Given the description of an element on the screen output the (x, y) to click on. 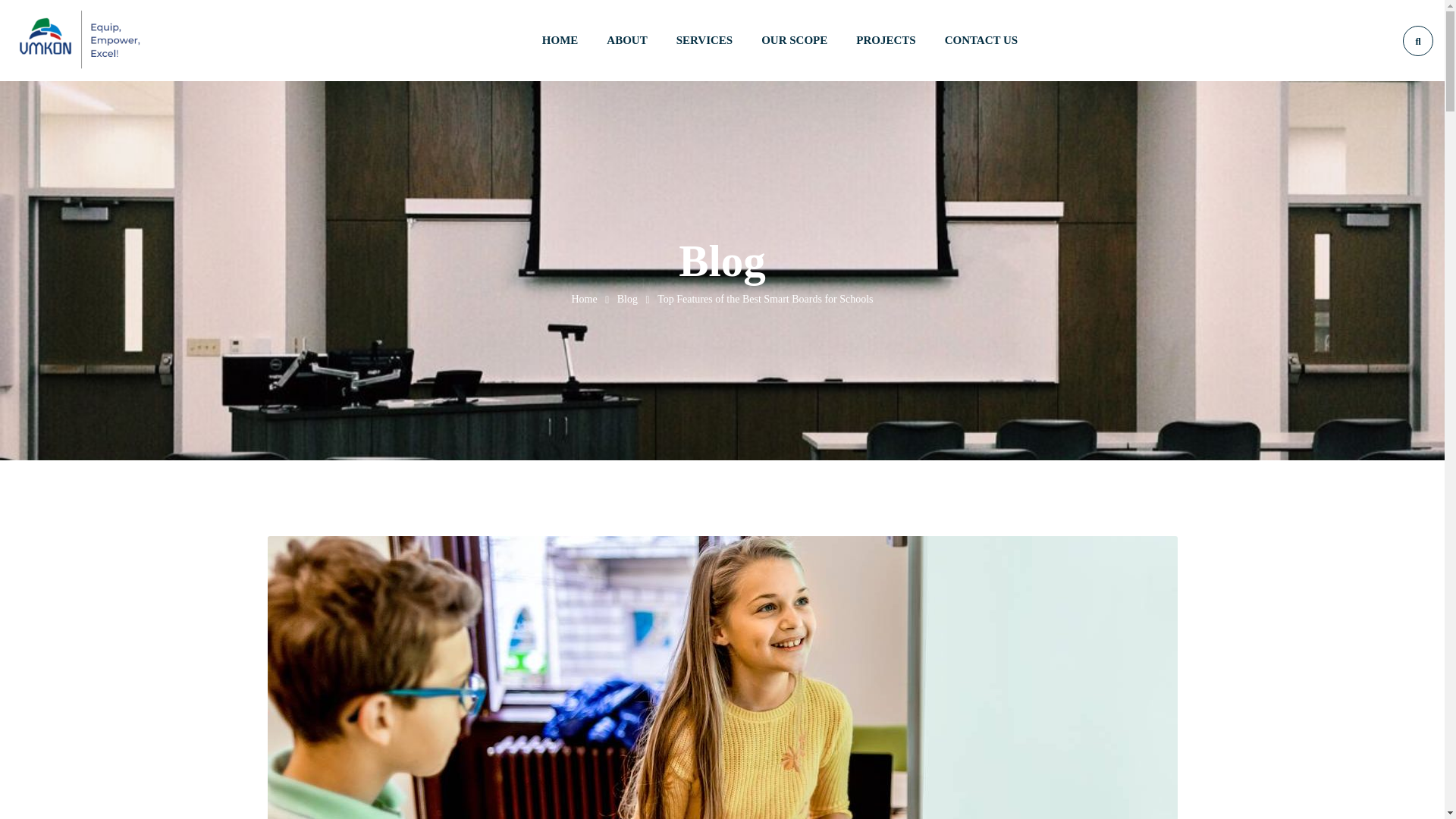
Home (583, 298)
Blog (627, 298)
VMKON (79, 40)
VMKON (583, 298)
CONTACT US (980, 40)
Blog (627, 298)
